Given the description of an element on the screen output the (x, y) to click on. 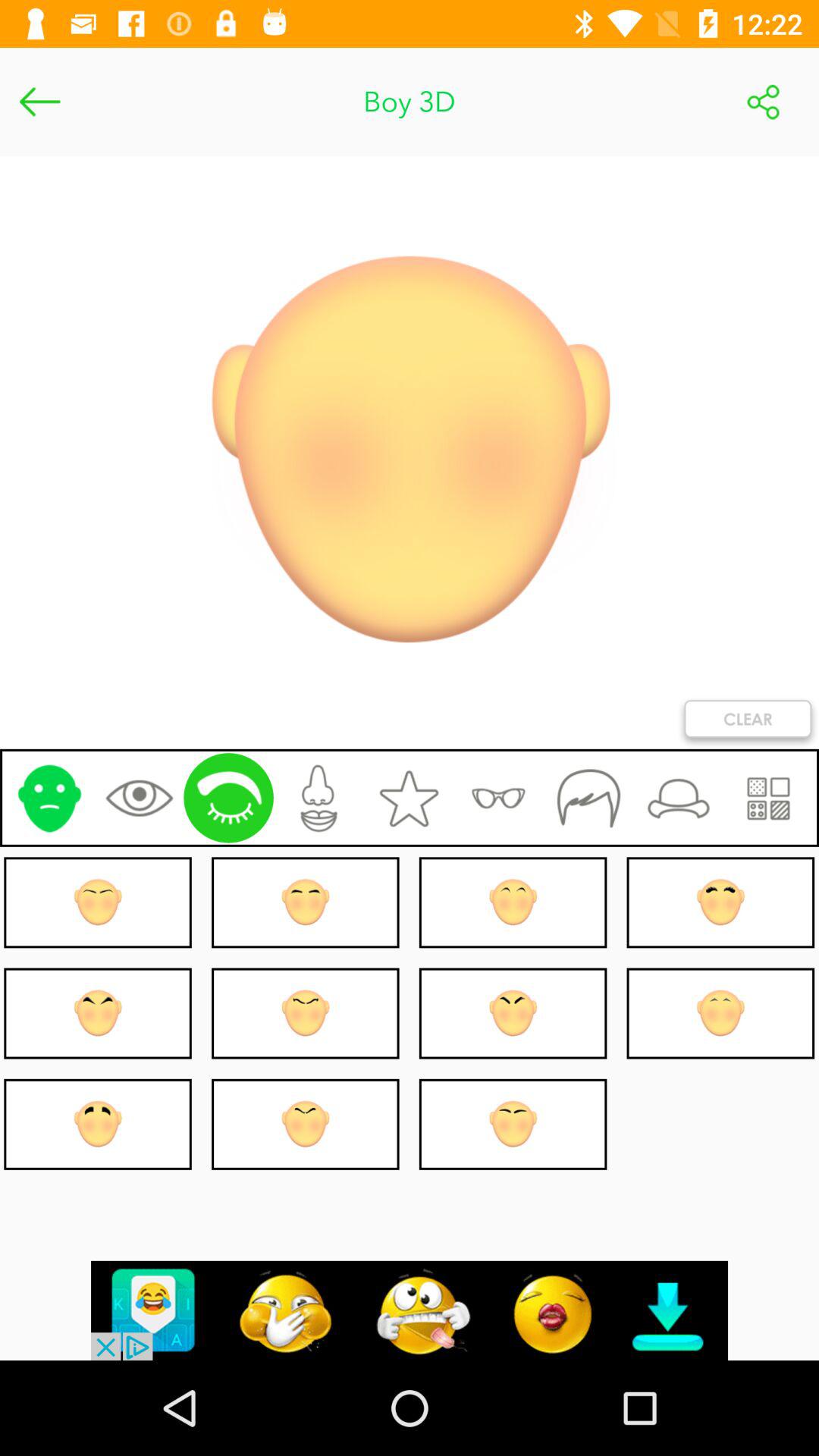
open advertisement (409, 1310)
